Given the description of an element on the screen output the (x, y) to click on. 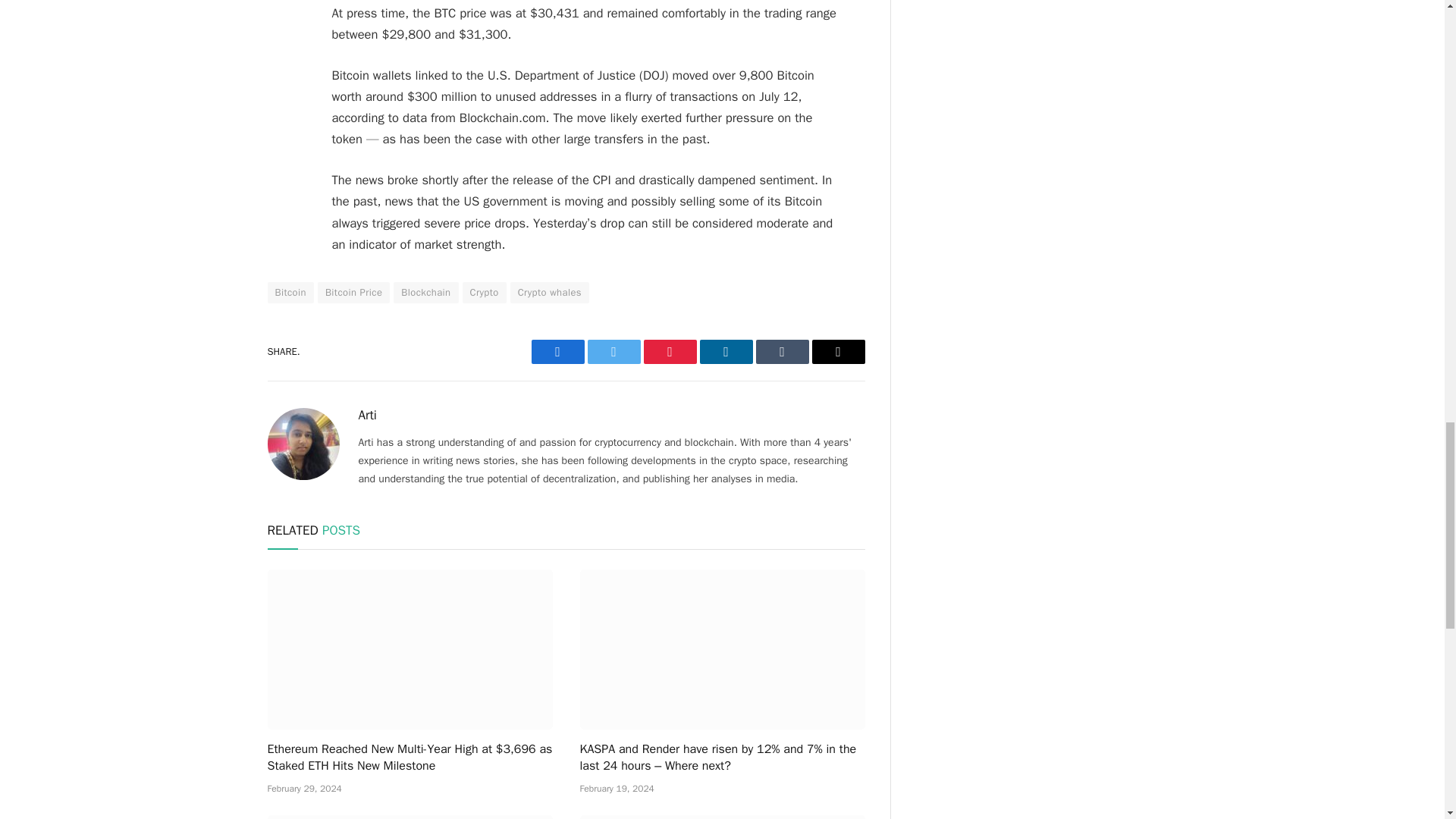
Share via Email (837, 351)
Share on Tumblr (781, 351)
Share on Pinterest (669, 351)
Crypto (484, 292)
Bitcoin Price (353, 292)
Share on LinkedIn (725, 351)
Crypto whales (550, 292)
Blockchain (425, 292)
Share on Facebook (557, 351)
Posts by Arti (366, 415)
Bitcoin (289, 292)
